Given the description of an element on the screen output the (x, y) to click on. 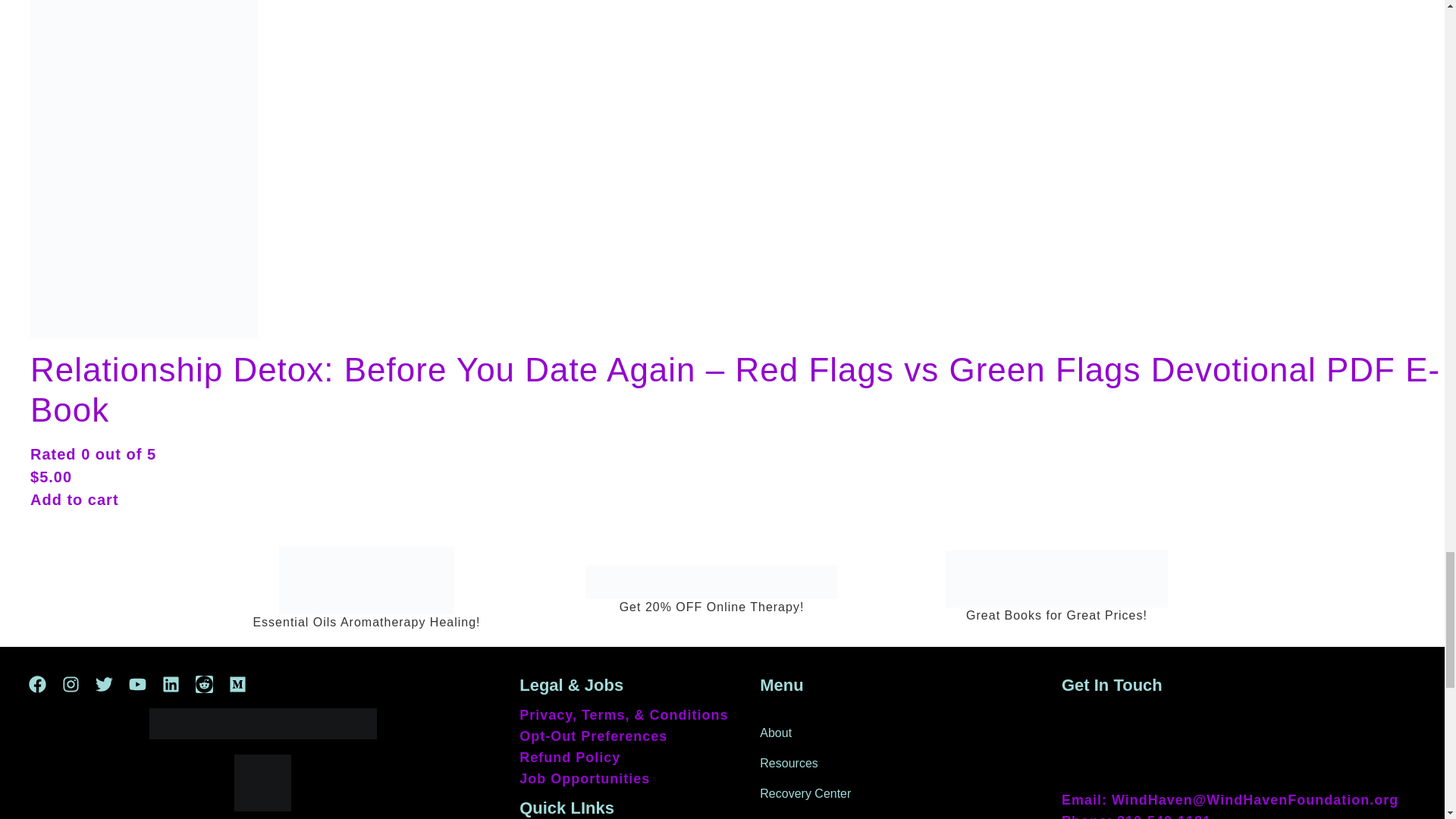
dbf0199722f8d196df85f5a660aa0e3b (366, 581)
